Given the description of an element on the screen output the (x, y) to click on. 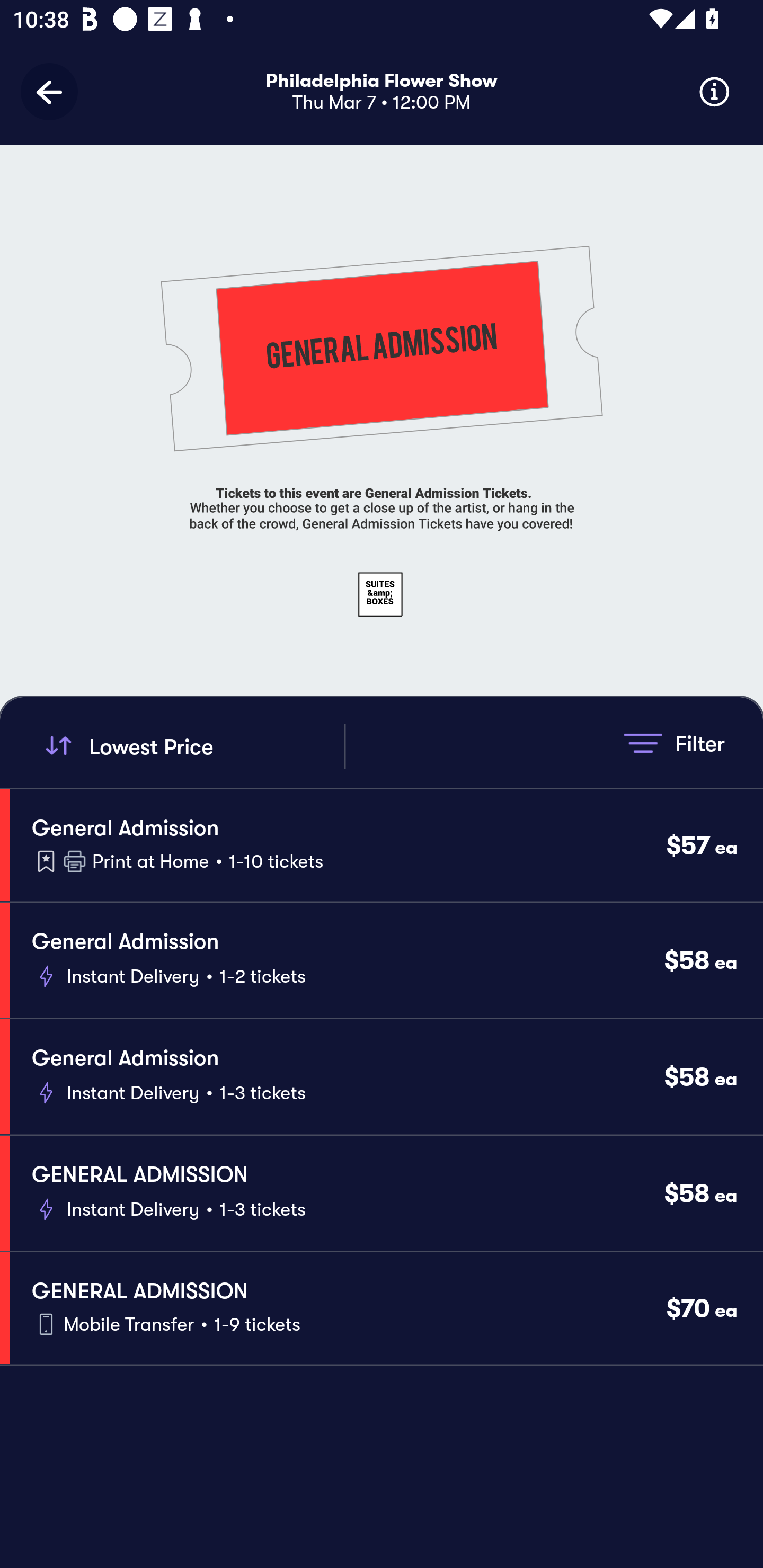
Lowest Price (191, 746)
Filter (674, 743)
